Given the description of an element on the screen output the (x, y) to click on. 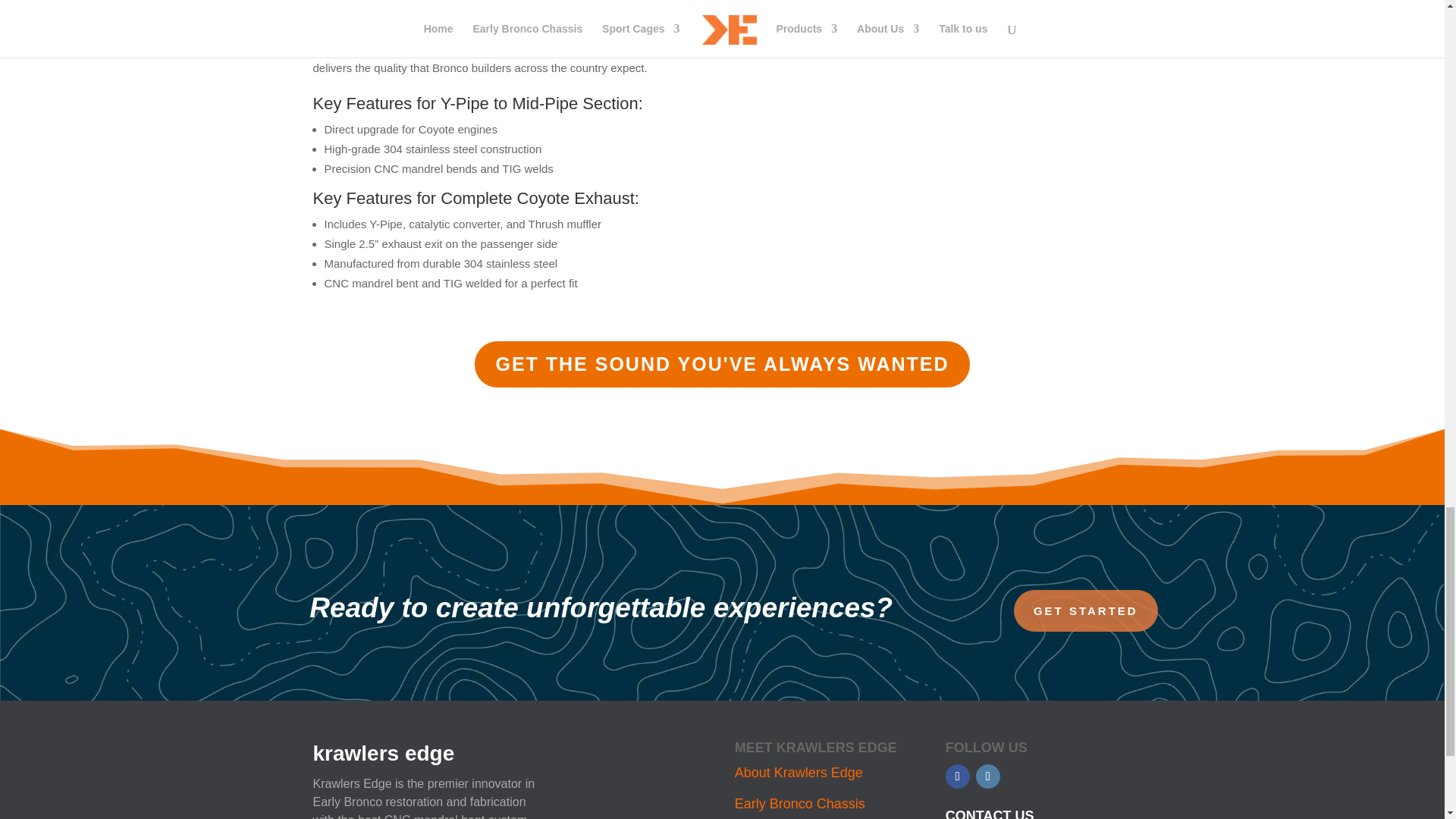
Follow on Instagram (987, 776)
Follow on Facebook (956, 776)
